Given the description of an element on the screen output the (x, y) to click on. 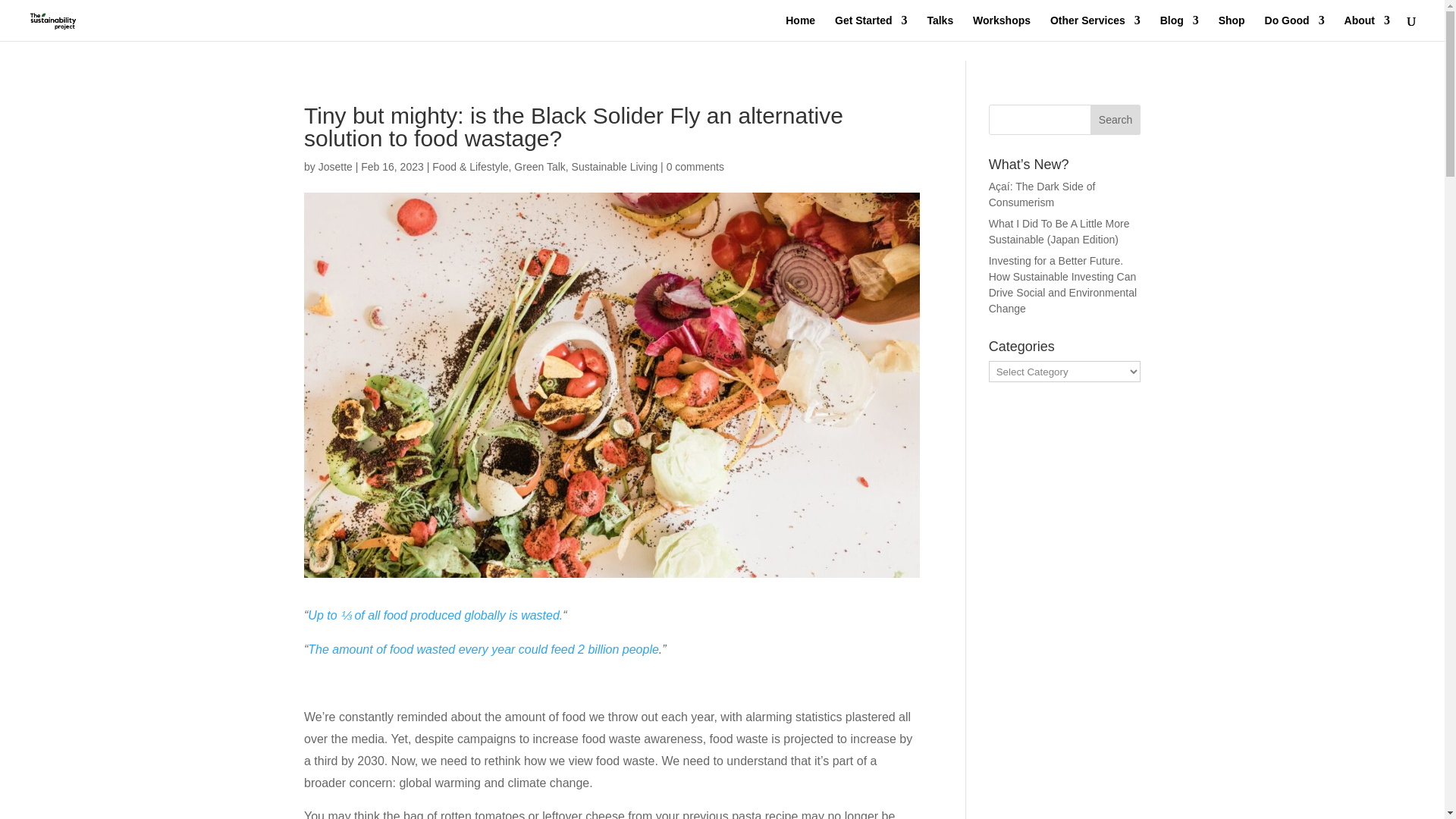
Blog (1179, 27)
Shop (1231, 27)
Workshops (1001, 27)
Page 1 (612, 712)
Get Started (870, 27)
Posts by Josette (335, 166)
Talks (939, 27)
Other Services (1094, 27)
Search (1115, 119)
Home (800, 27)
Do Good (1294, 27)
